Given the description of an element on the screen output the (x, y) to click on. 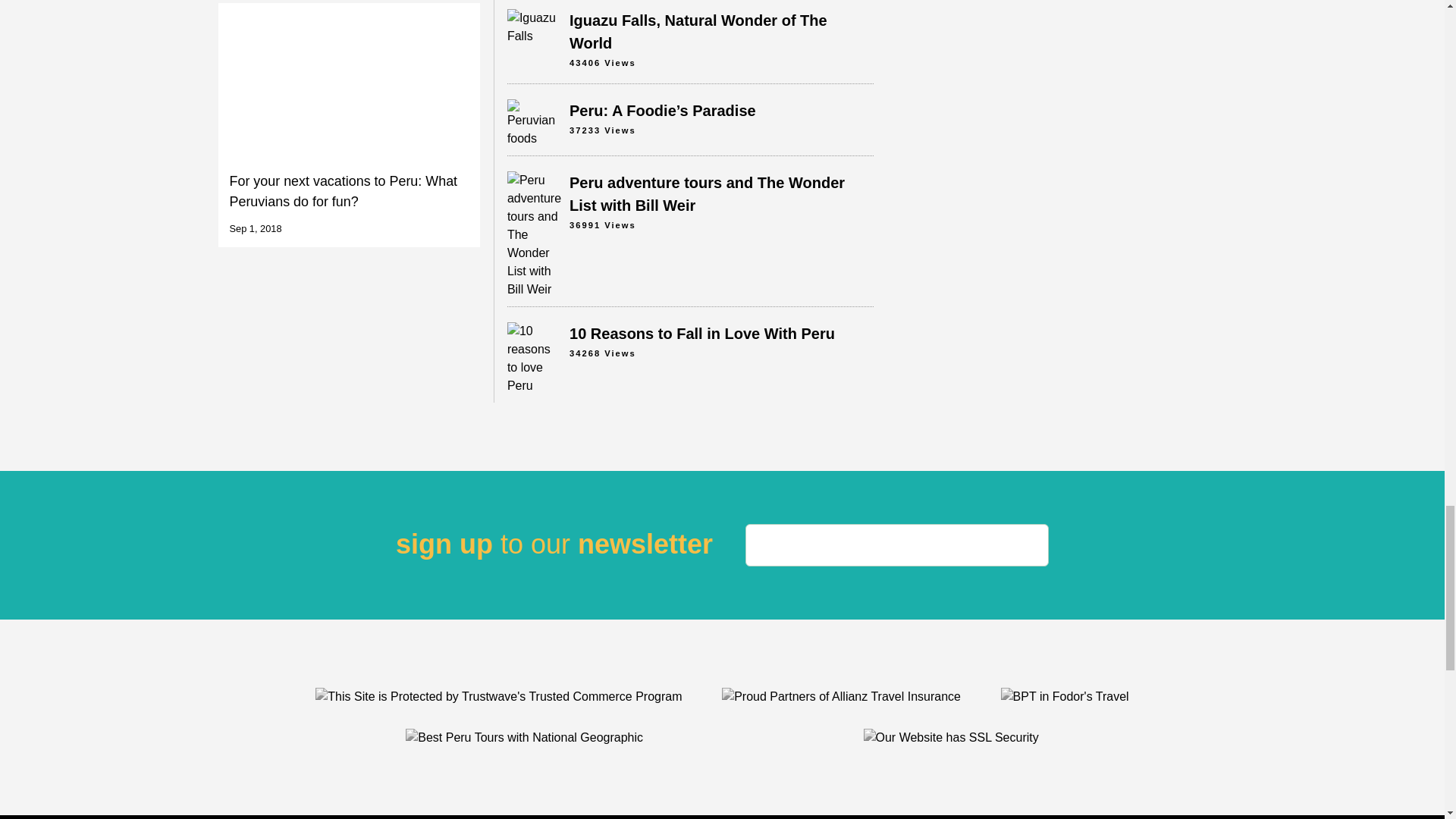
For your next vacations to Peru: What Peruvians do for fun? (349, 125)
